Given the description of an element on the screen output the (x, y) to click on. 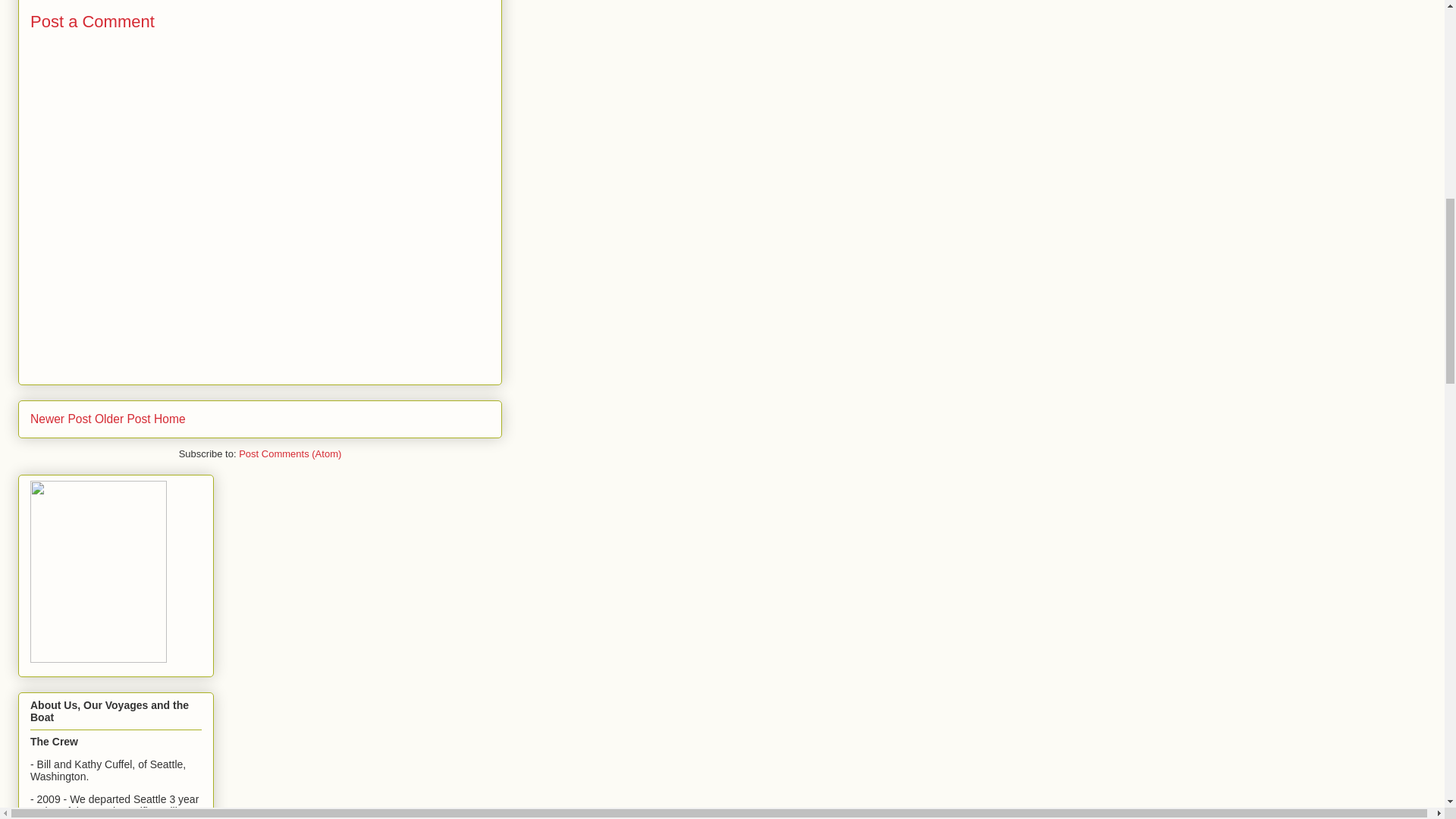
Newer Post (60, 418)
Older Post (122, 418)
Older Post (122, 418)
Home (170, 418)
Newer Post (60, 418)
